Given the description of an element on the screen output the (x, y) to click on. 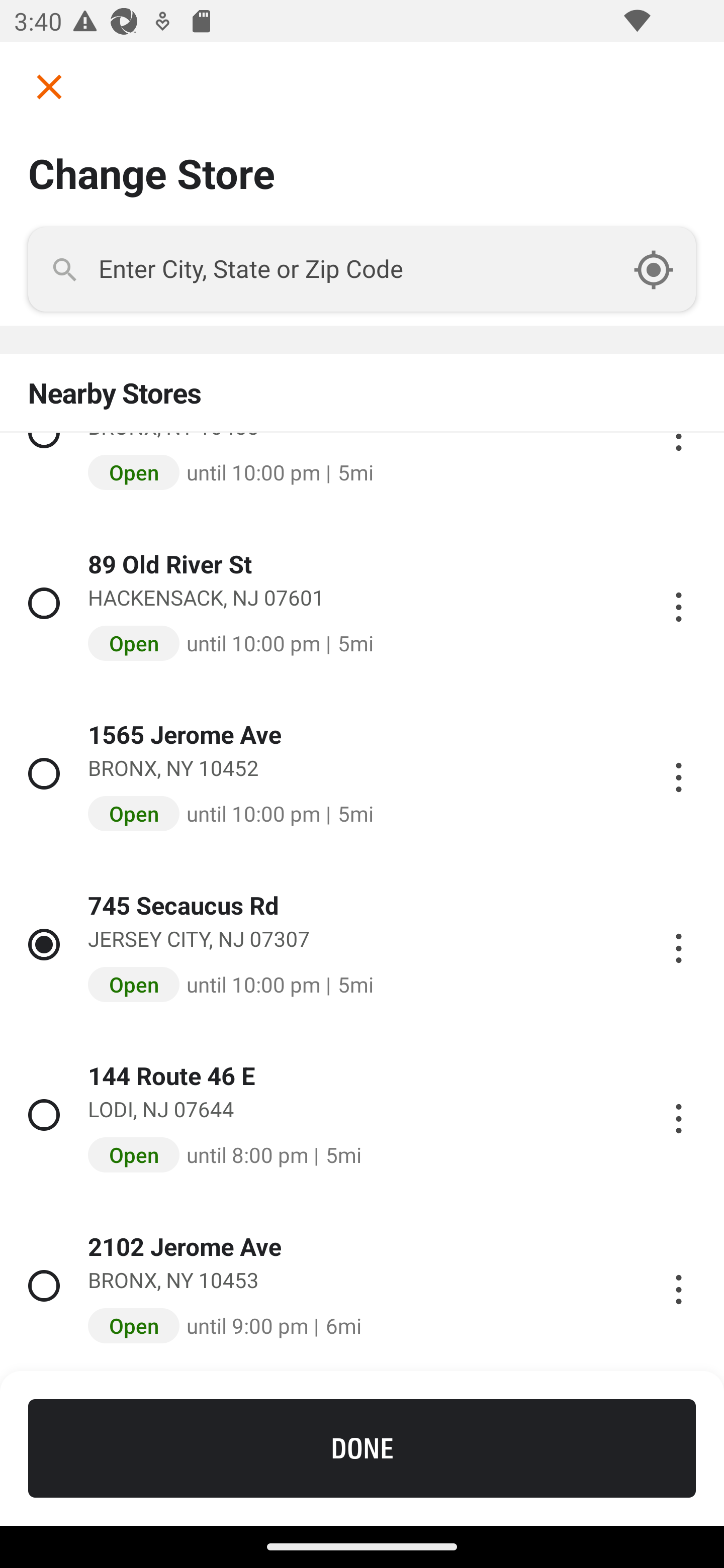
close-button  (42, 86)
Enter City, State or Zip Code search-bar-input (361, 269)
search-location-button  (663, 269)
more-actions-for-541 E 149th St ︙ (678, 431)
more-actions-for-89 Old River St ︙ (678, 602)
more-actions-for-1565 Jerome Ave ︙ (678, 773)
more-actions-for-745 Secaucus Rd ︙ (678, 944)
more-actions-for-144 Route 46 E ︙ (678, 1114)
more-actions-for-2102 Jerome Ave ︙ (678, 1286)
DONE (361, 1447)
